Given the description of an element on the screen output the (x, y) to click on. 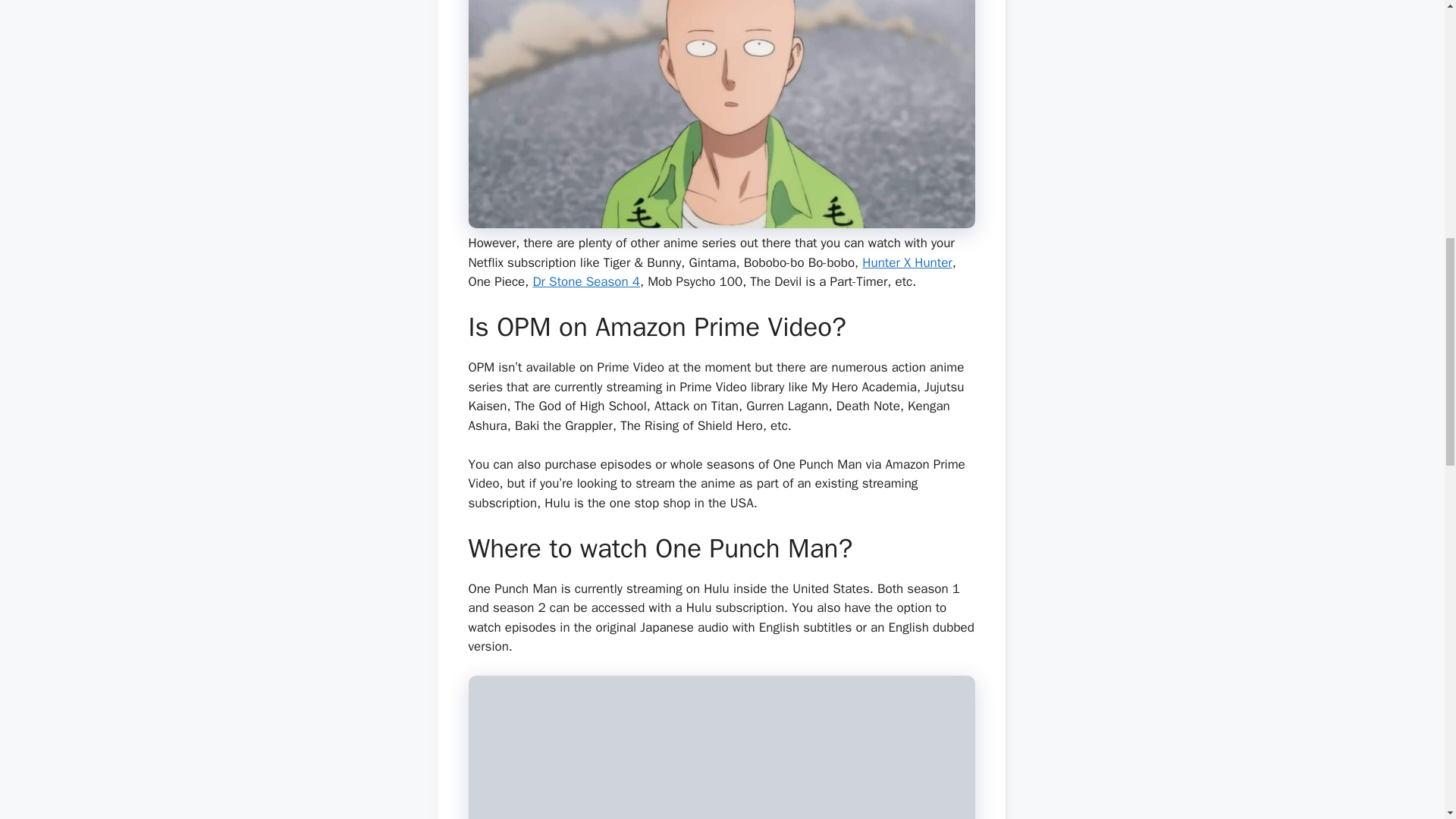
Dr Stone Season 4 (586, 281)
Is One Punch Man on Netflix, Hulu or Amazon Prime Video? (721, 747)
Is One Punch Man on Netflix, Hulu or Amazon Prime Video? (721, 114)
Hunter X Hunter (906, 262)
